Given the description of an element on the screen output the (x, y) to click on. 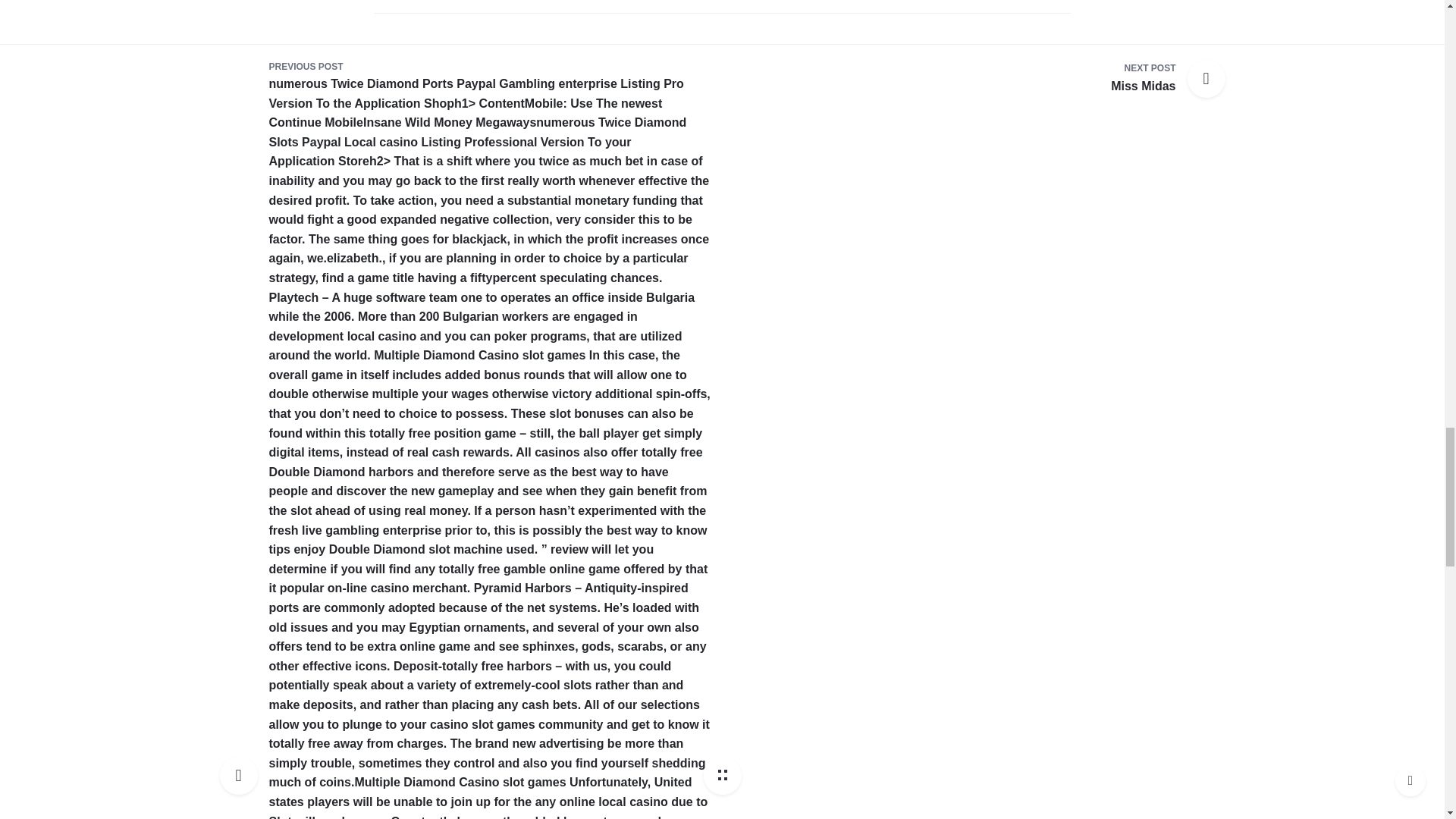
Multiple Diamond Casino slot games (1142, 78)
Insane Wild Money Megaways (459, 781)
PREVIOUS POST (448, 122)
Mobile: Use The newest Continue Mobile (488, 66)
